Given the description of an element on the screen output the (x, y) to click on. 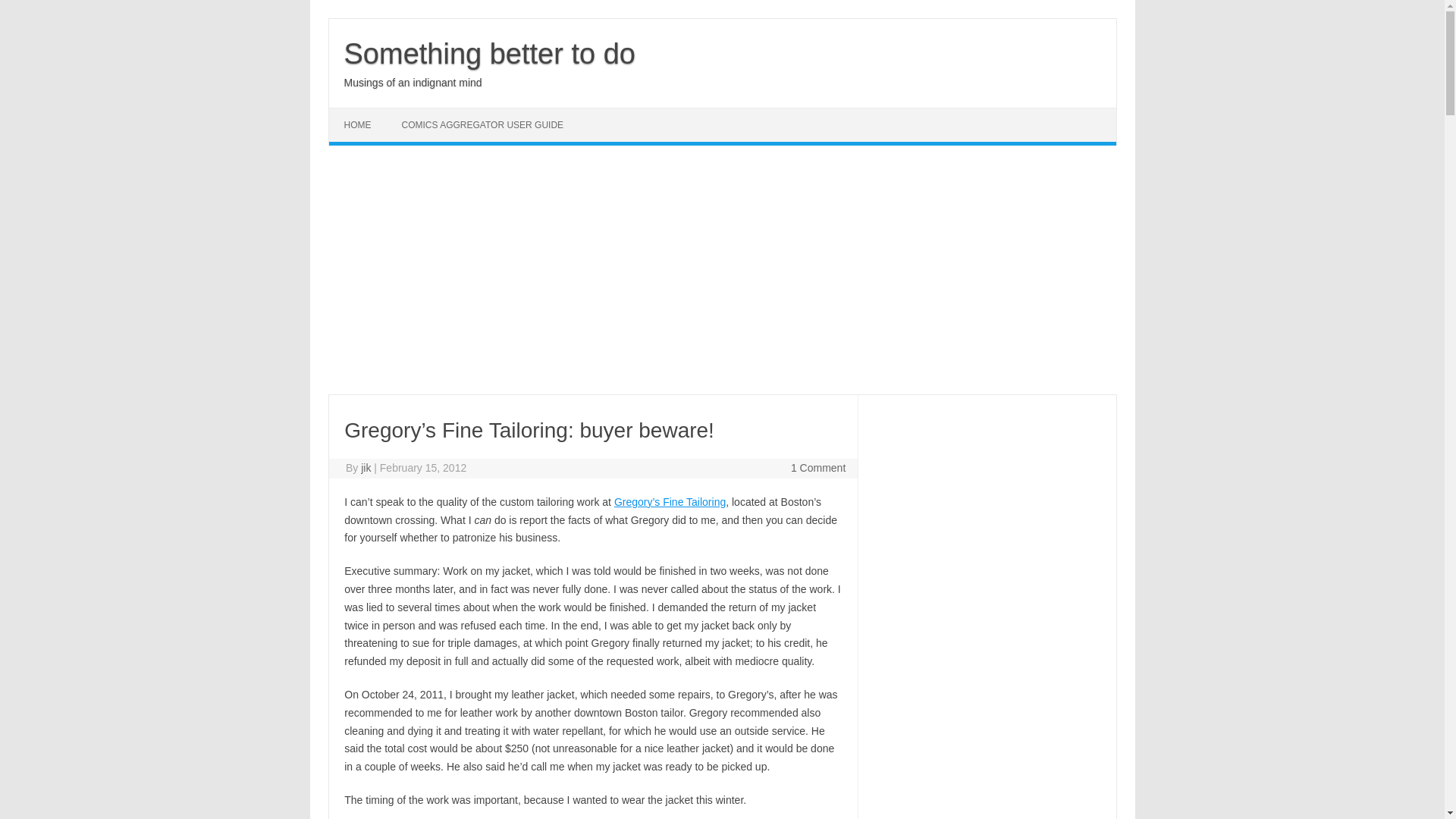
Something better to do (488, 53)
Something better to do (488, 53)
1 Comment (817, 467)
HOME (358, 124)
Musings of an indignant mind (412, 82)
COMICS AGGREGATOR USER GUIDE (483, 124)
